Given the description of an element on the screen output the (x, y) to click on. 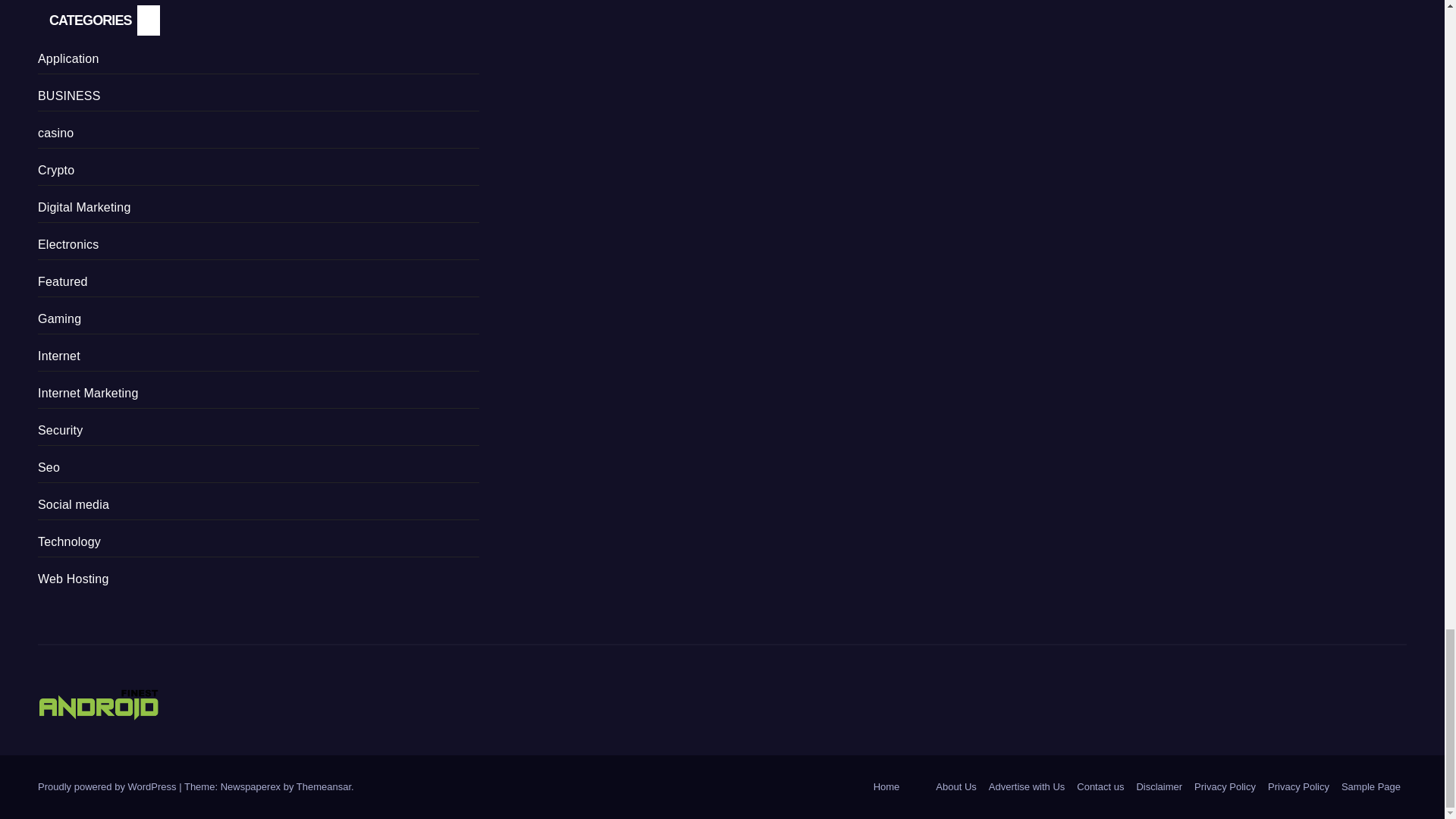
Home (886, 786)
